Given the description of an element on the screen output the (x, y) to click on. 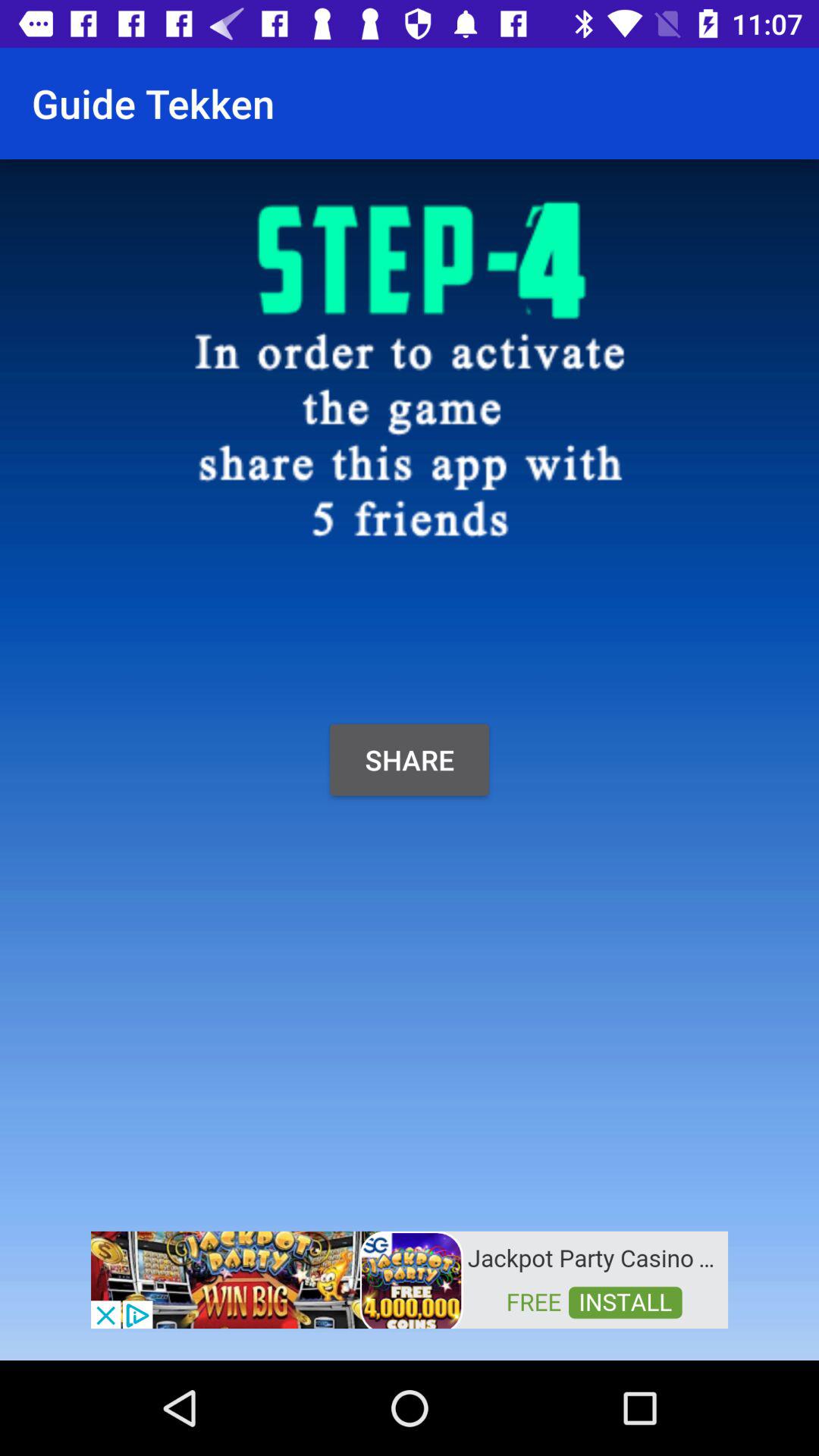
app advertisement (409, 1278)
